Given the description of an element on the screen output the (x, y) to click on. 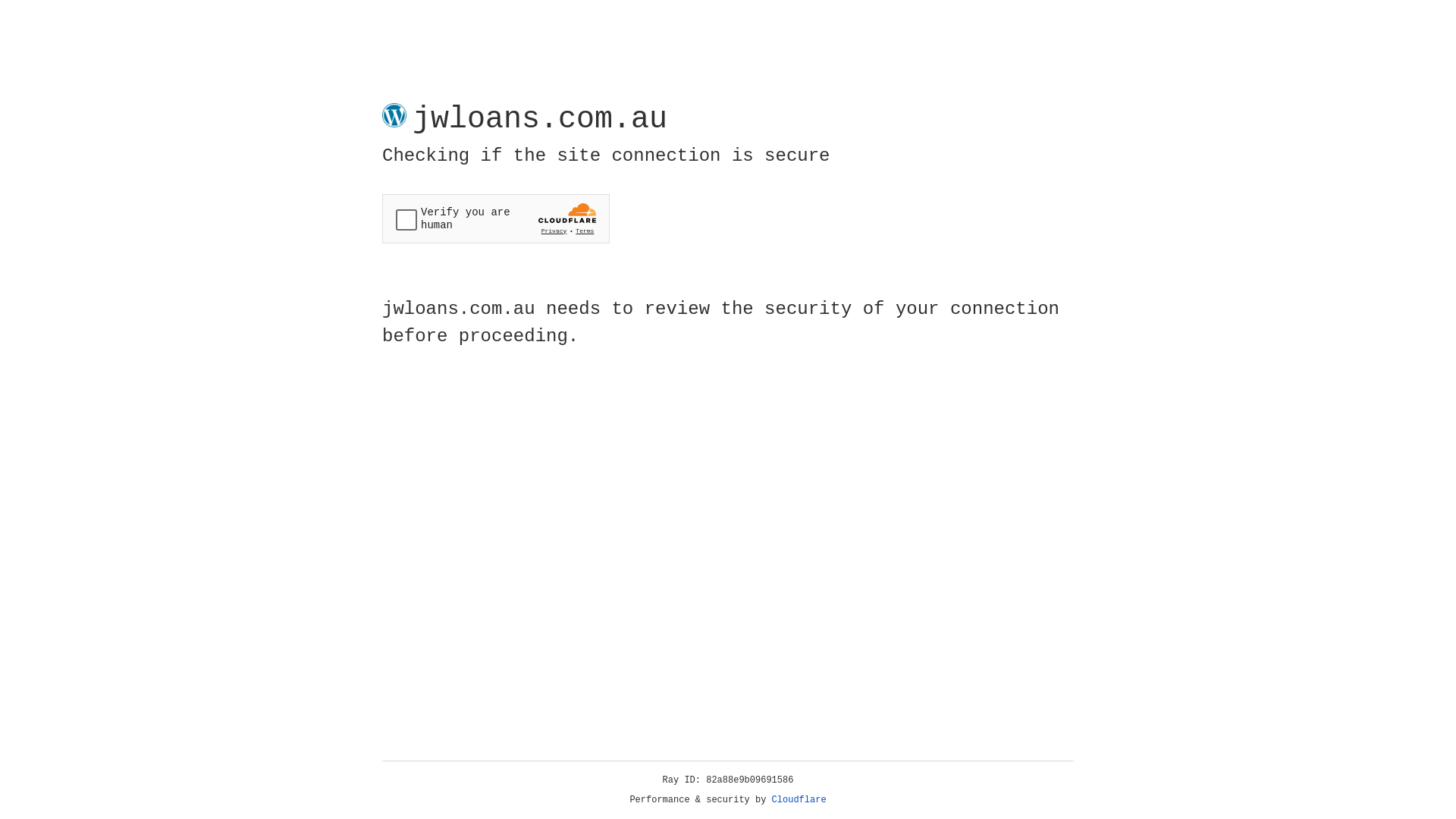
Widget containing a Cloudflare security challenge Element type: hover (495, 218)
Cloudflare Element type: text (798, 799)
